Given the description of an element on the screen output the (x, y) to click on. 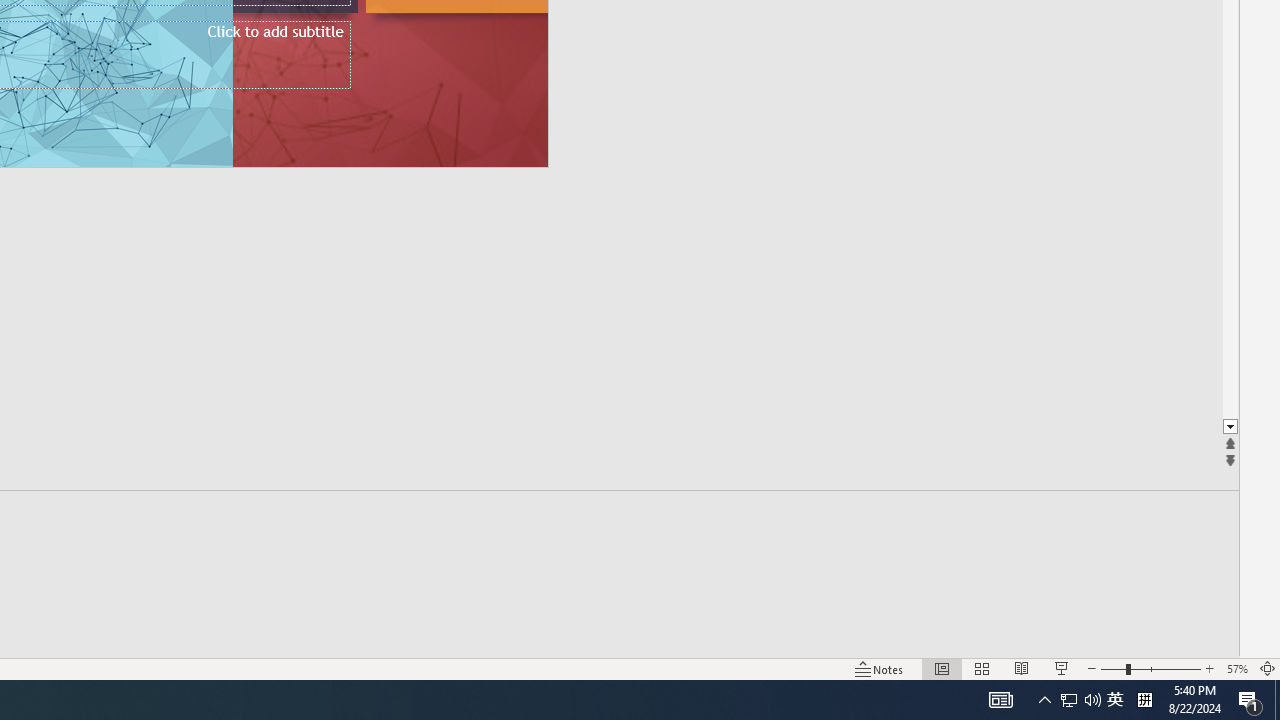
User Promoted Notification Area (1080, 699)
Zoom 57% (1236, 668)
Action Center, 1 new notification (1250, 699)
